Given the description of an element on the screen output the (x, y) to click on. 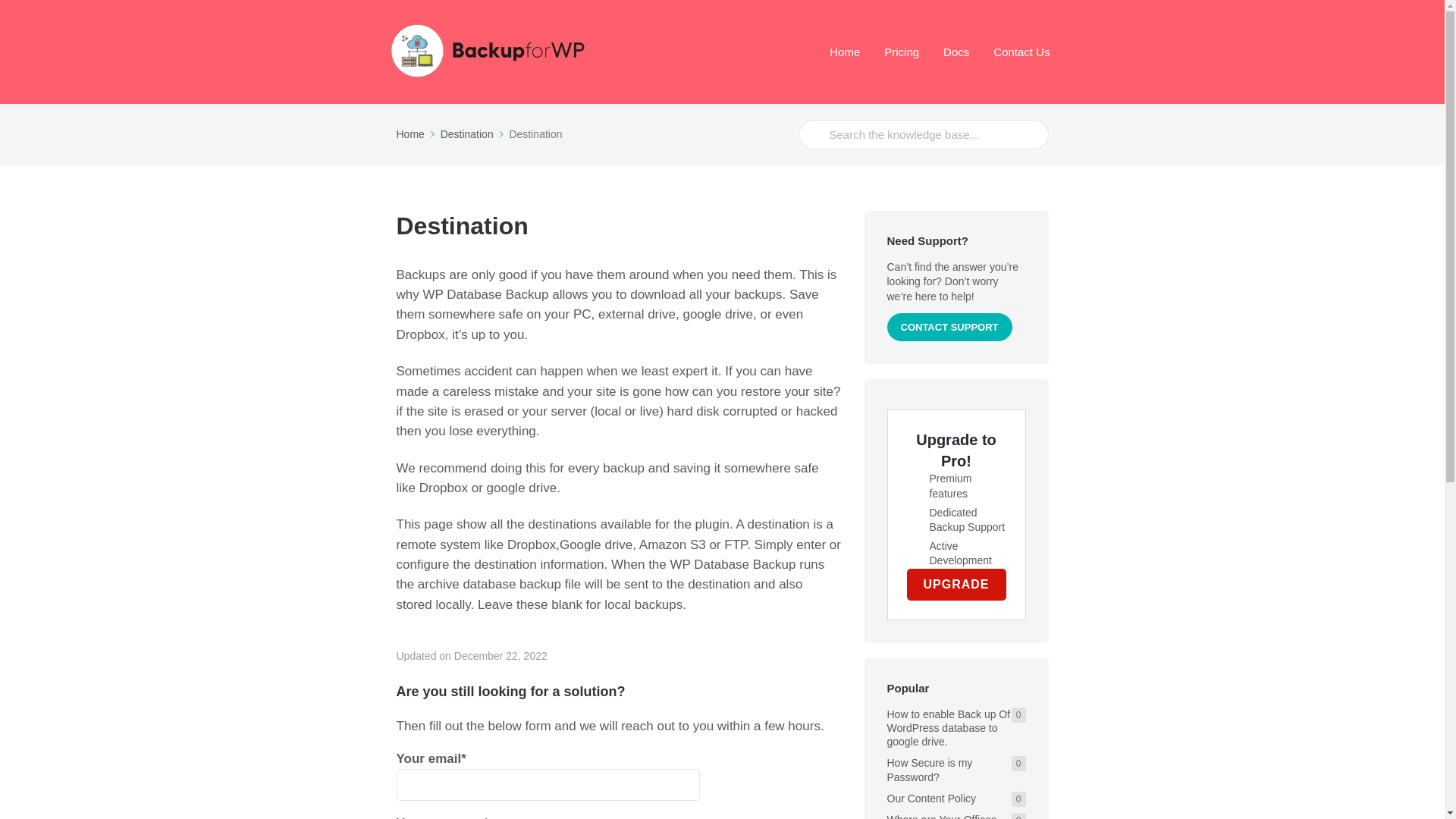
Home (845, 51)
Docs (956, 51)
Home (416, 133)
Contact Us (1021, 51)
Our Content Policy (940, 798)
CONTACT SUPPORT (948, 326)
How Secure is my Password? (929, 769)
Pricing (900, 51)
How to enable Back up Of WordPress database to google drive. (948, 727)
Destination (473, 133)
